Given the description of an element on the screen output the (x, y) to click on. 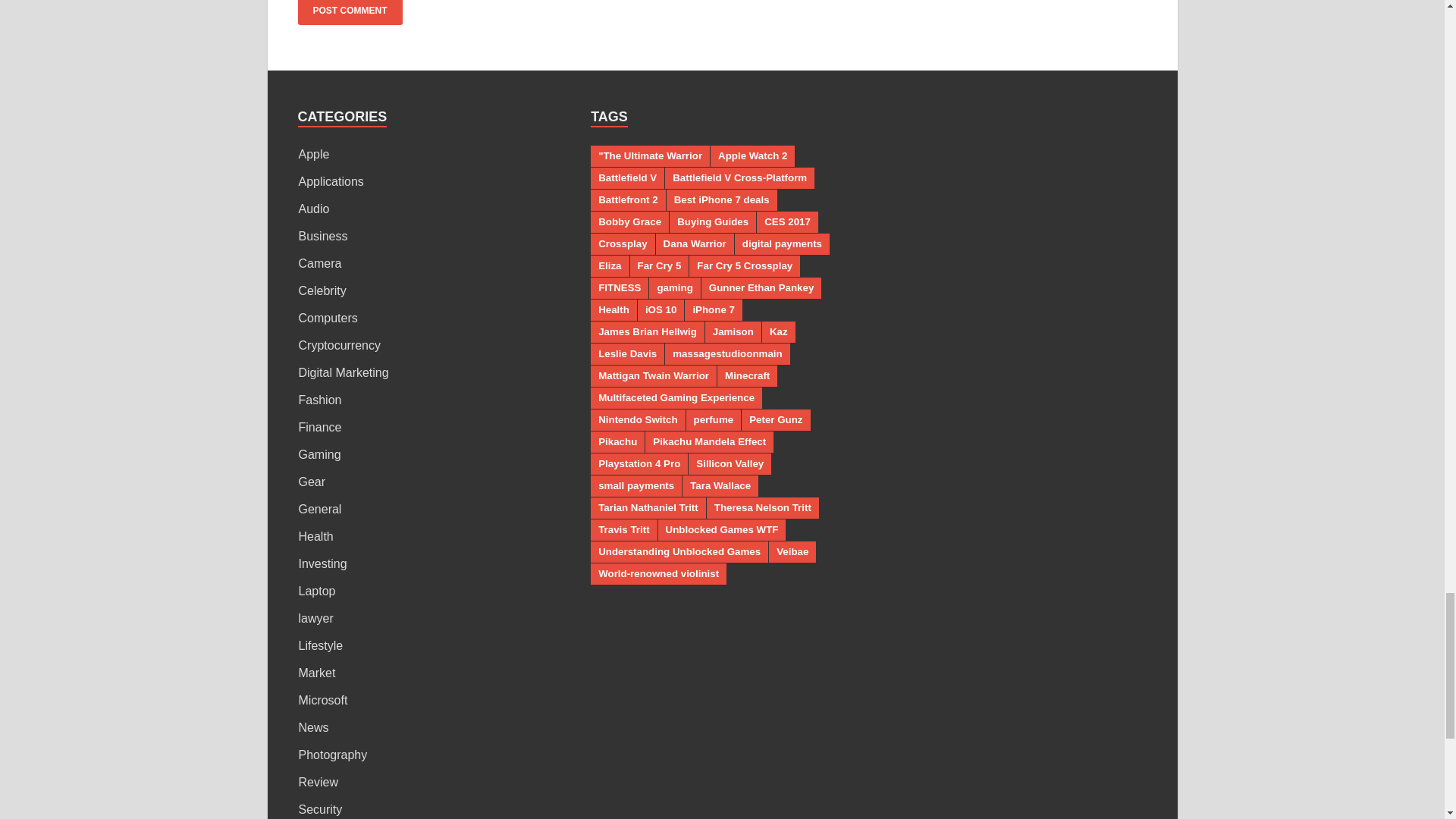
Post Comment (349, 12)
